Given the description of an element on the screen output the (x, y) to click on. 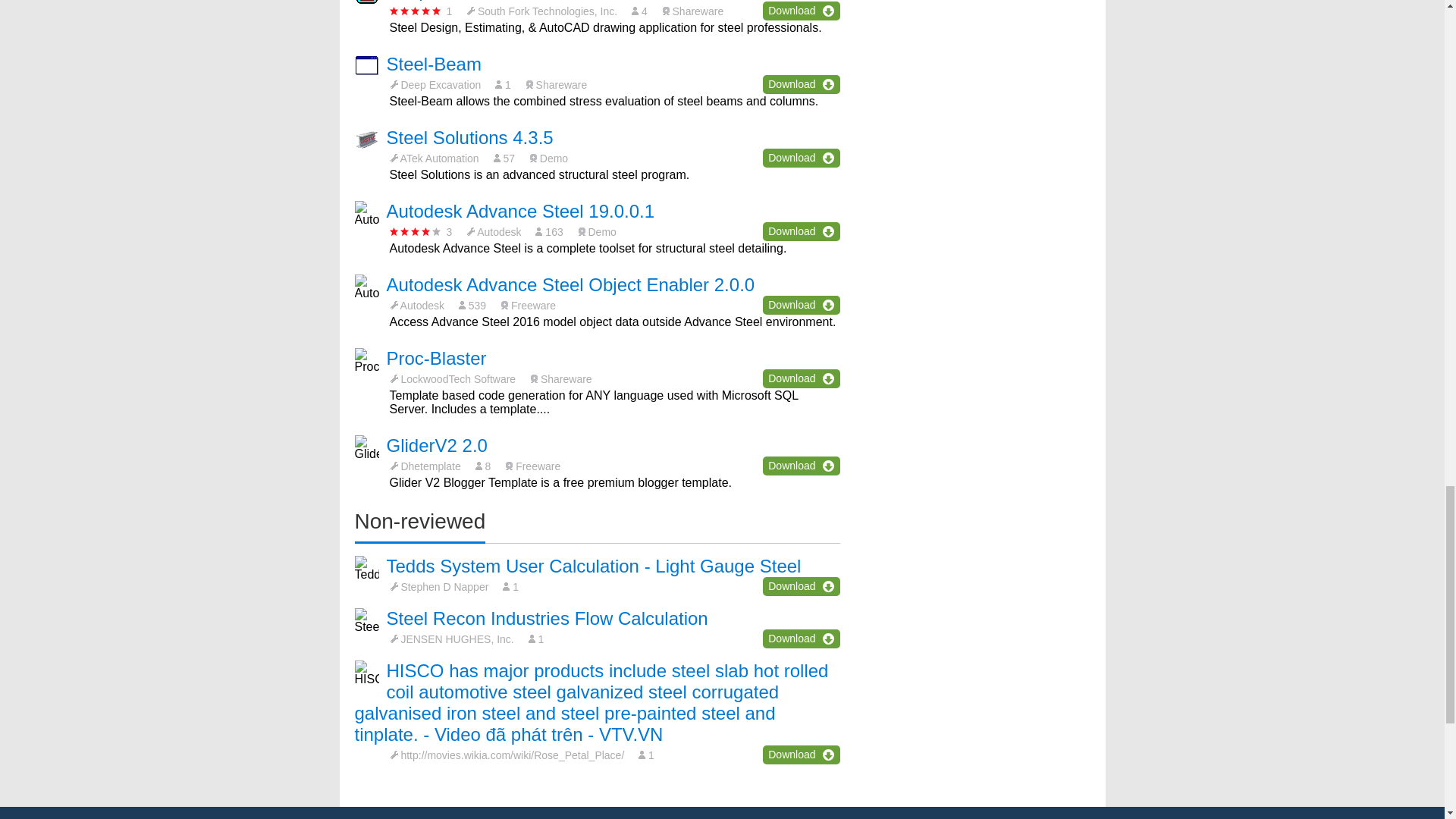
Steel Solutions 4.3.5 (470, 137)
Steel-Beam (434, 64)
Download (801, 84)
Autodesk Advance Steel 19.0.0.1 (521, 210)
Download (801, 10)
5 (415, 10)
Download (801, 157)
Autodesk Advance Steel 19.0.0.1 (521, 210)
Steel-Beam  (434, 64)
